Given the description of an element on the screen output the (x, y) to click on. 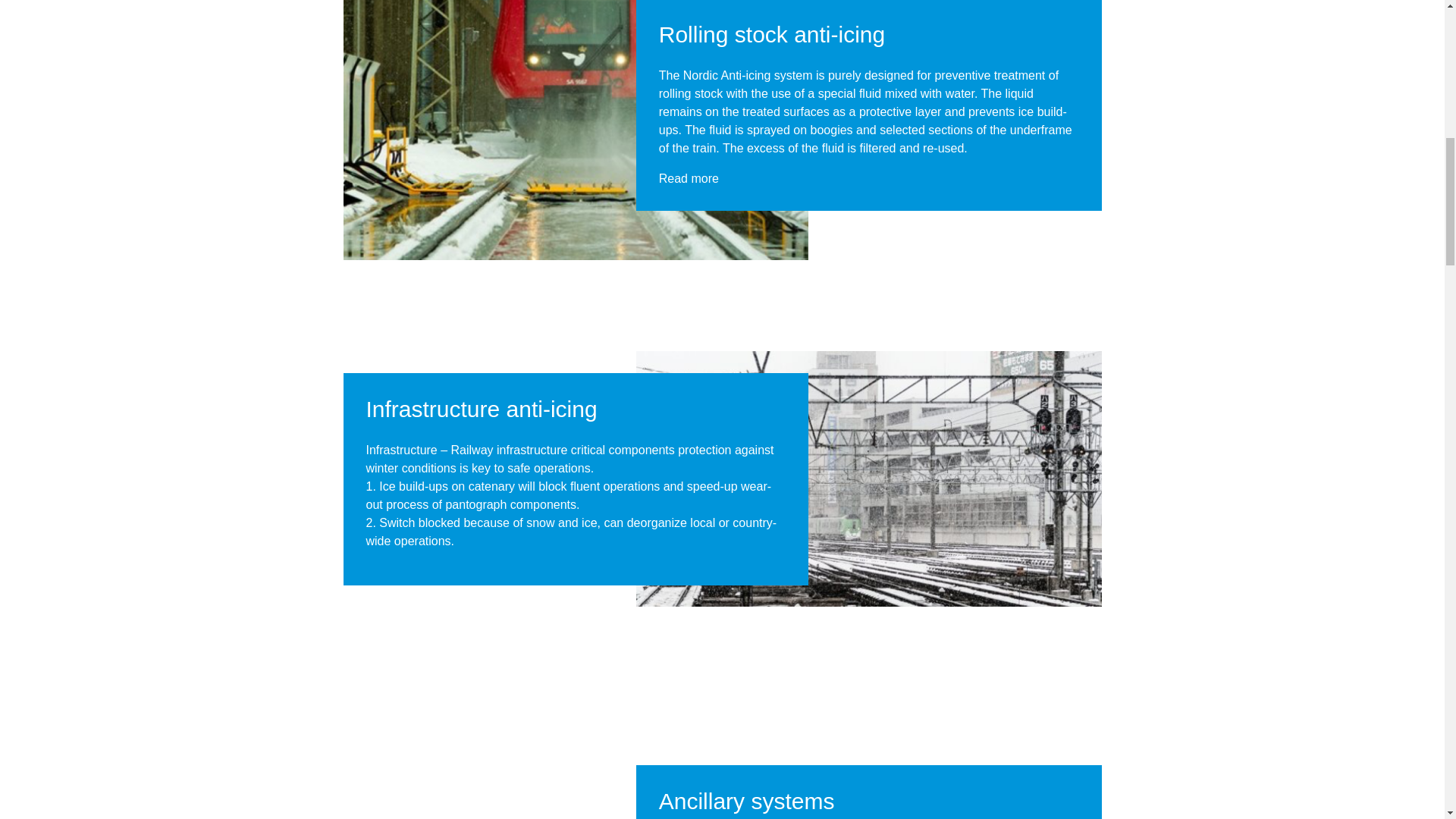
Read more (689, 178)
